Given the description of an element on the screen output the (x, y) to click on. 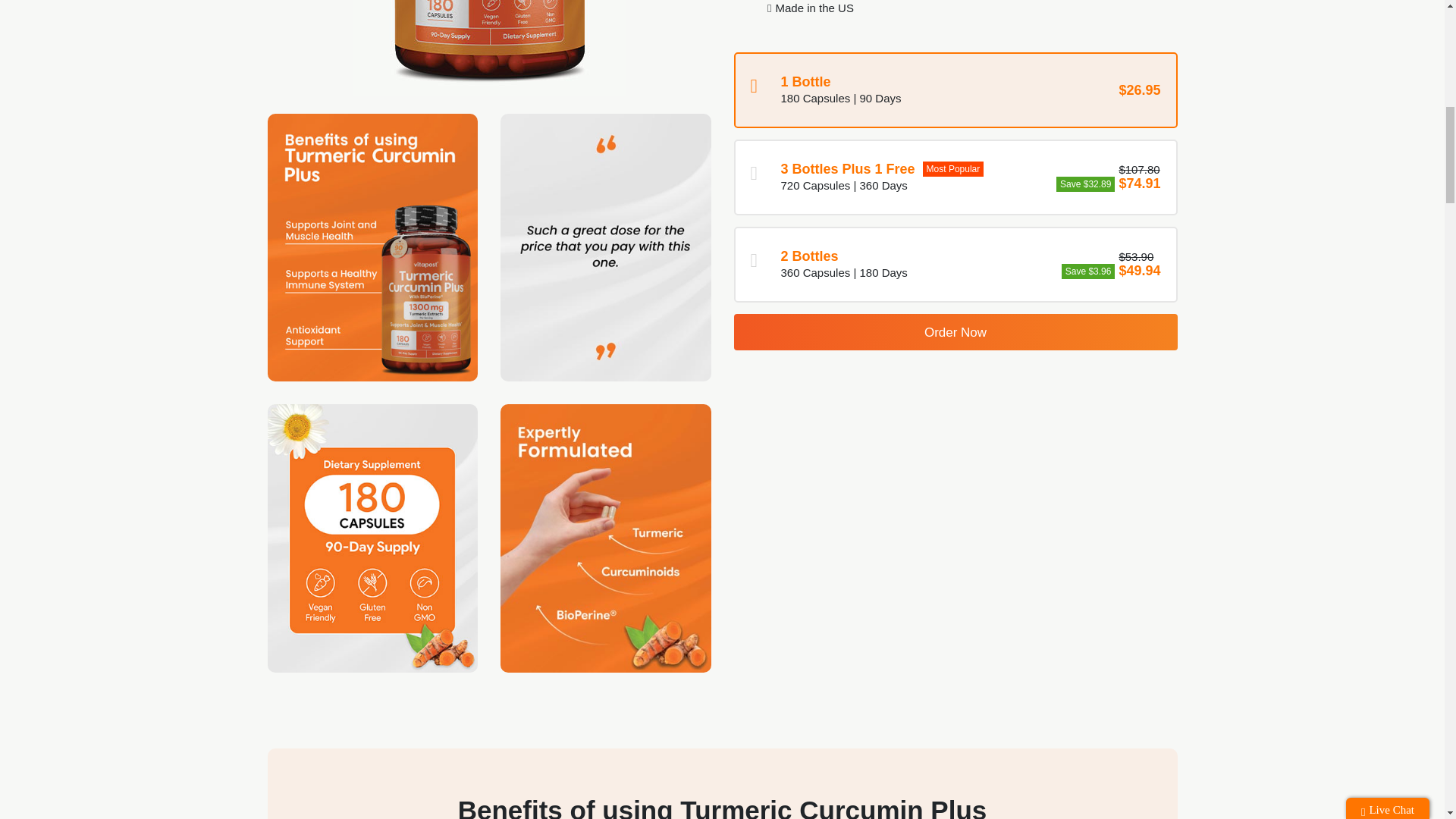
Order Now (955, 331)
